Given the description of an element on the screen output the (x, y) to click on. 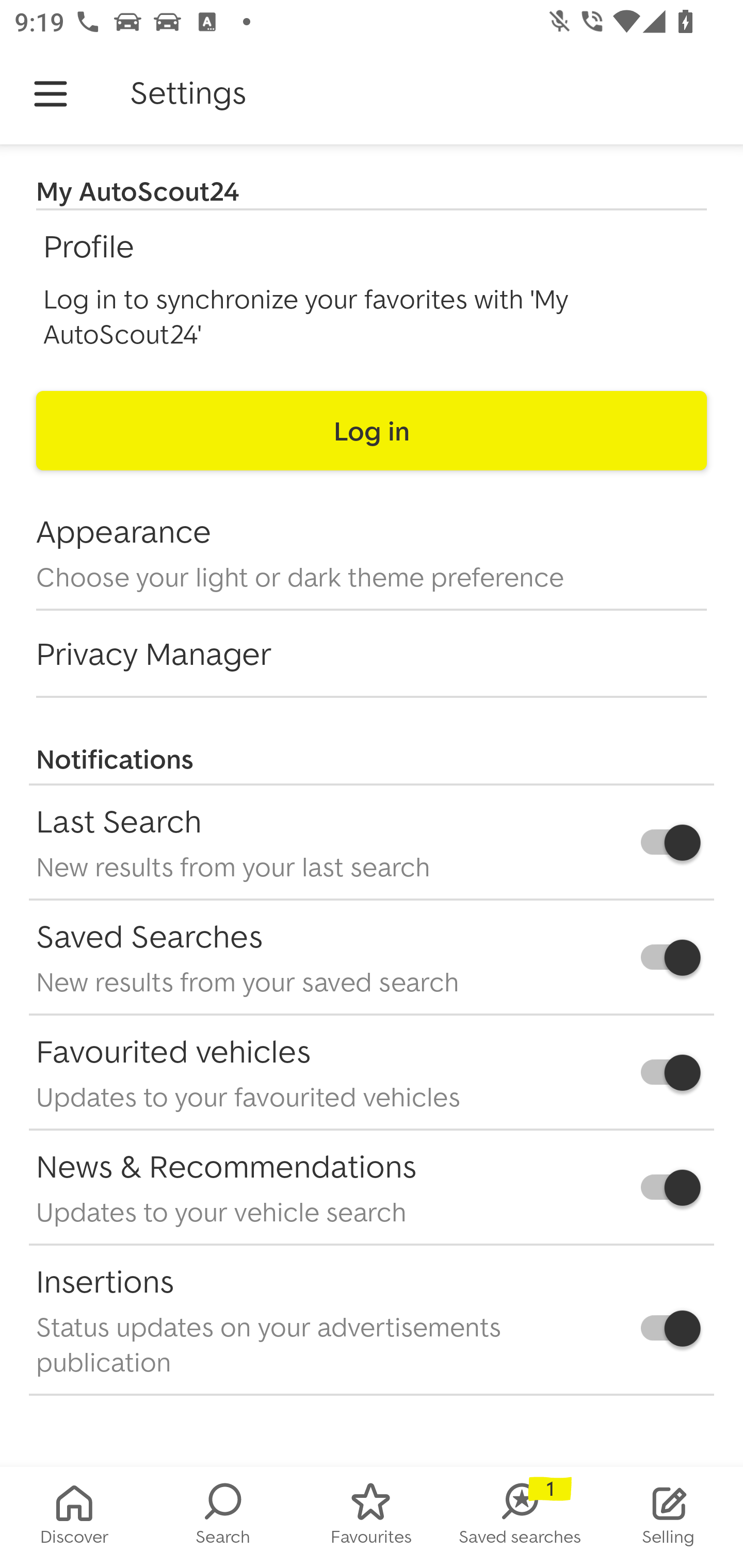
Navigate up (50, 93)
Log in (371, 430)
Privacy Manager (371, 653)
HOMESCREEN Discover (74, 1517)
SEARCH Search (222, 1517)
FAVORITES Favourites (371, 1517)
SAVED_SEARCHES Saved searches 1 (519, 1517)
STOCK_LIST Selling (668, 1517)
